Given the description of an element on the screen output the (x, y) to click on. 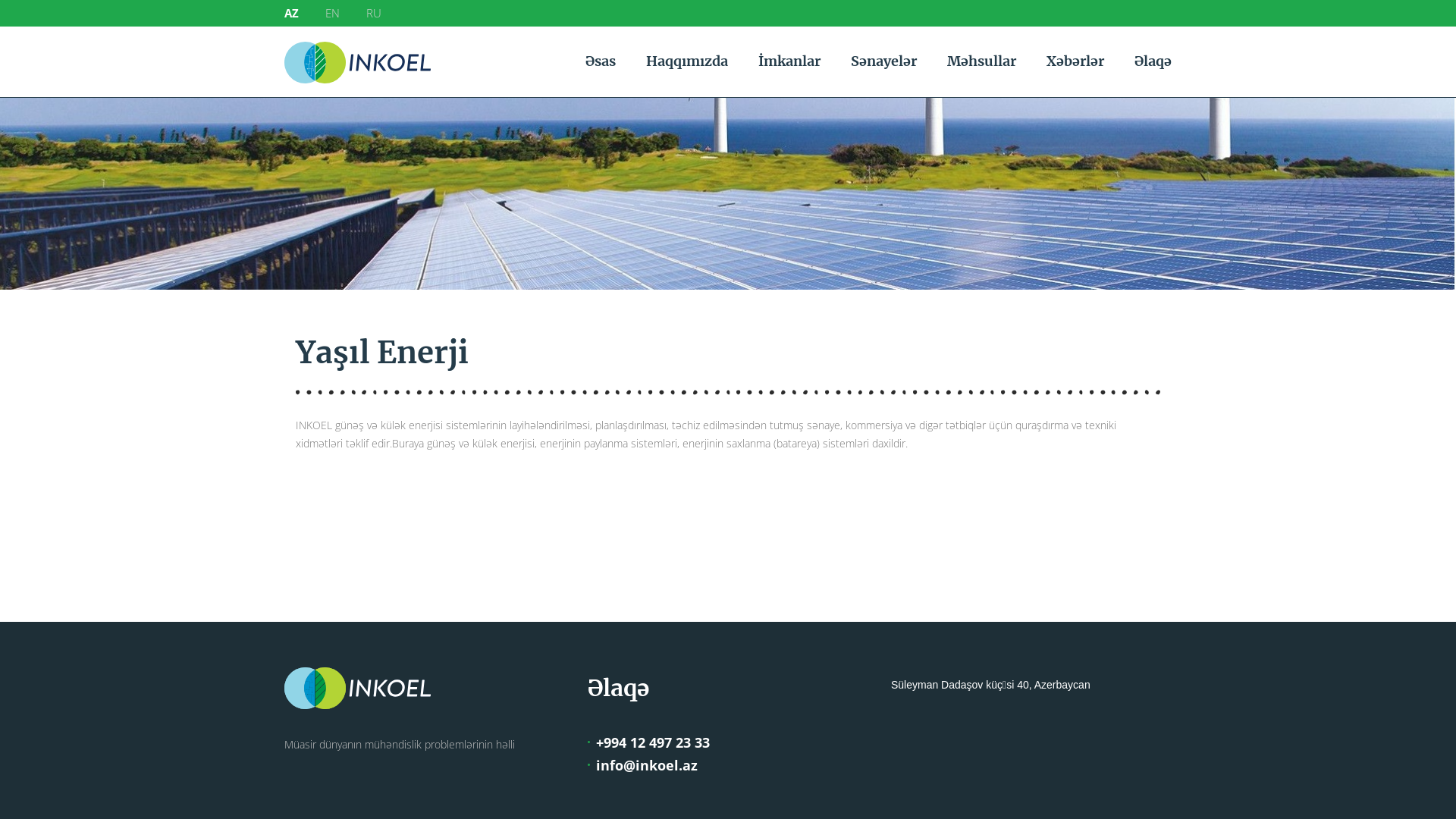
+994 12 497 23 33 Element type: text (648, 741)
EN Element type: text (332, 12)
info@inkoel.az Element type: text (648, 764)
AZ Element type: text (291, 12)
RU Element type: text (373, 12)
